Given the description of an element on the screen output the (x, y) to click on. 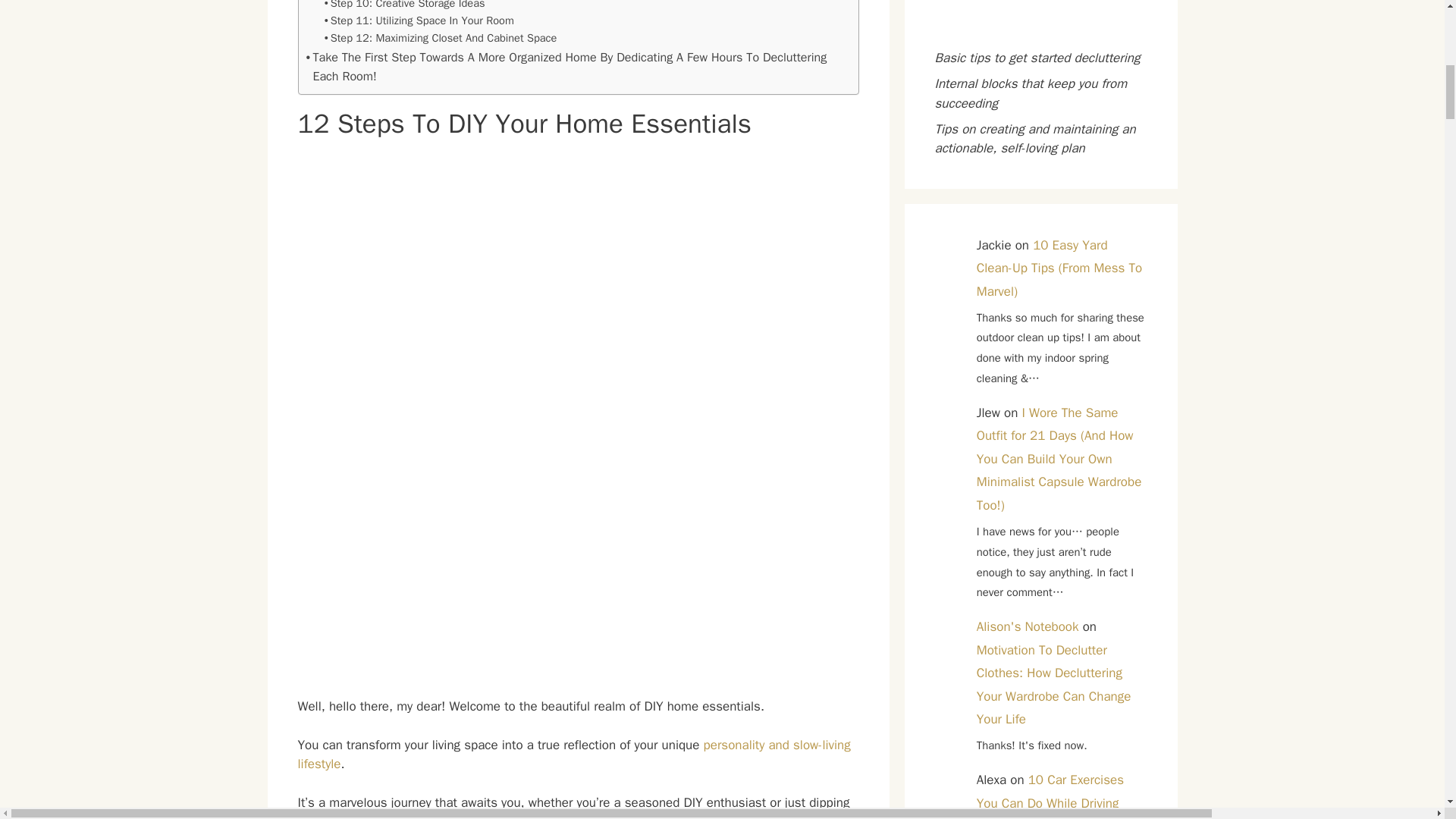
Step 11: Utilizing Space In Your Room (418, 20)
Step 12: Maximizing Closet And Cabinet Space (440, 37)
Step 10: Creative Storage Ideas (404, 6)
